Given the description of an element on the screen output the (x, y) to click on. 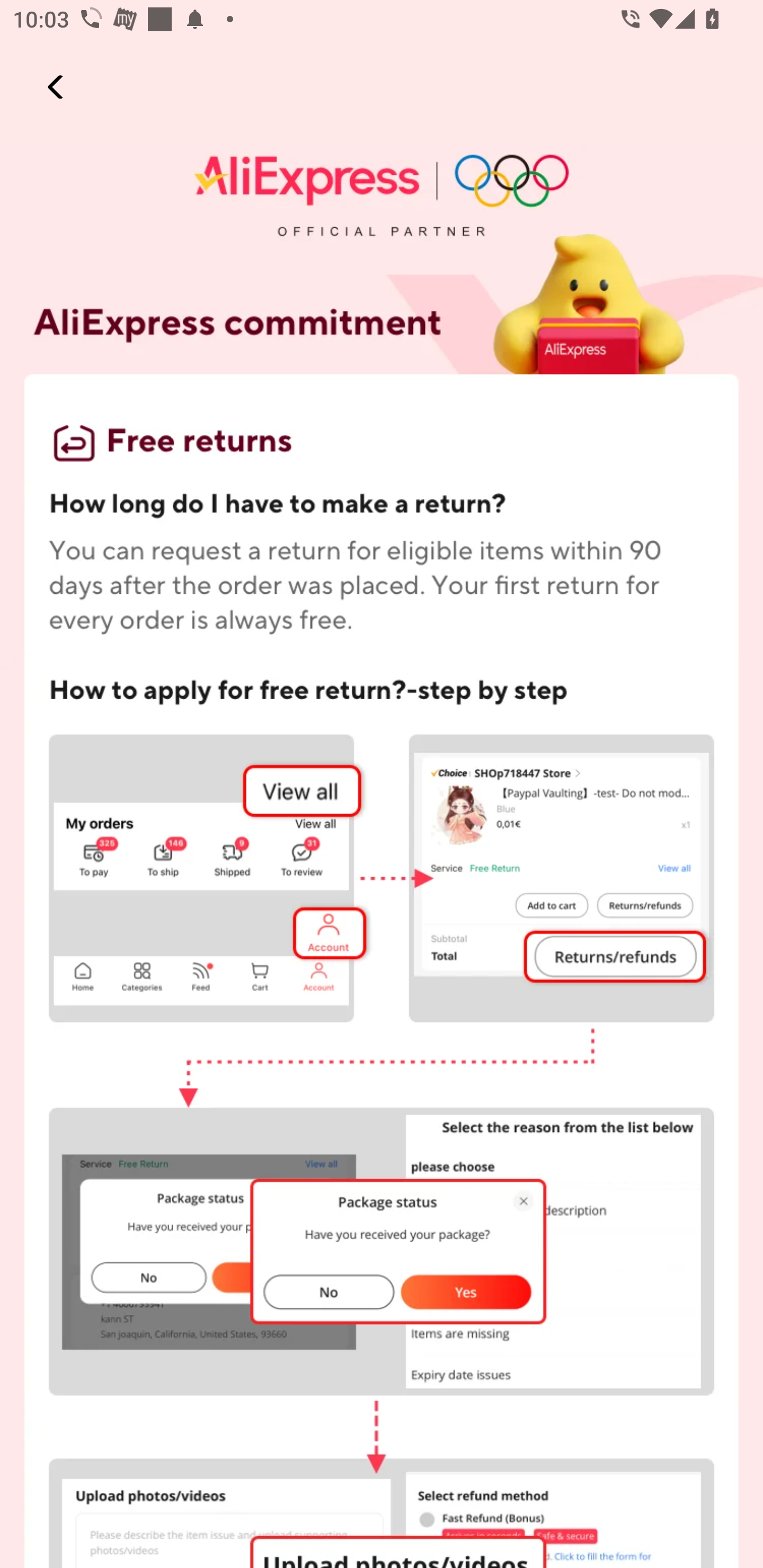
 (57, 86)
